Given the description of an element on the screen output the (x, y) to click on. 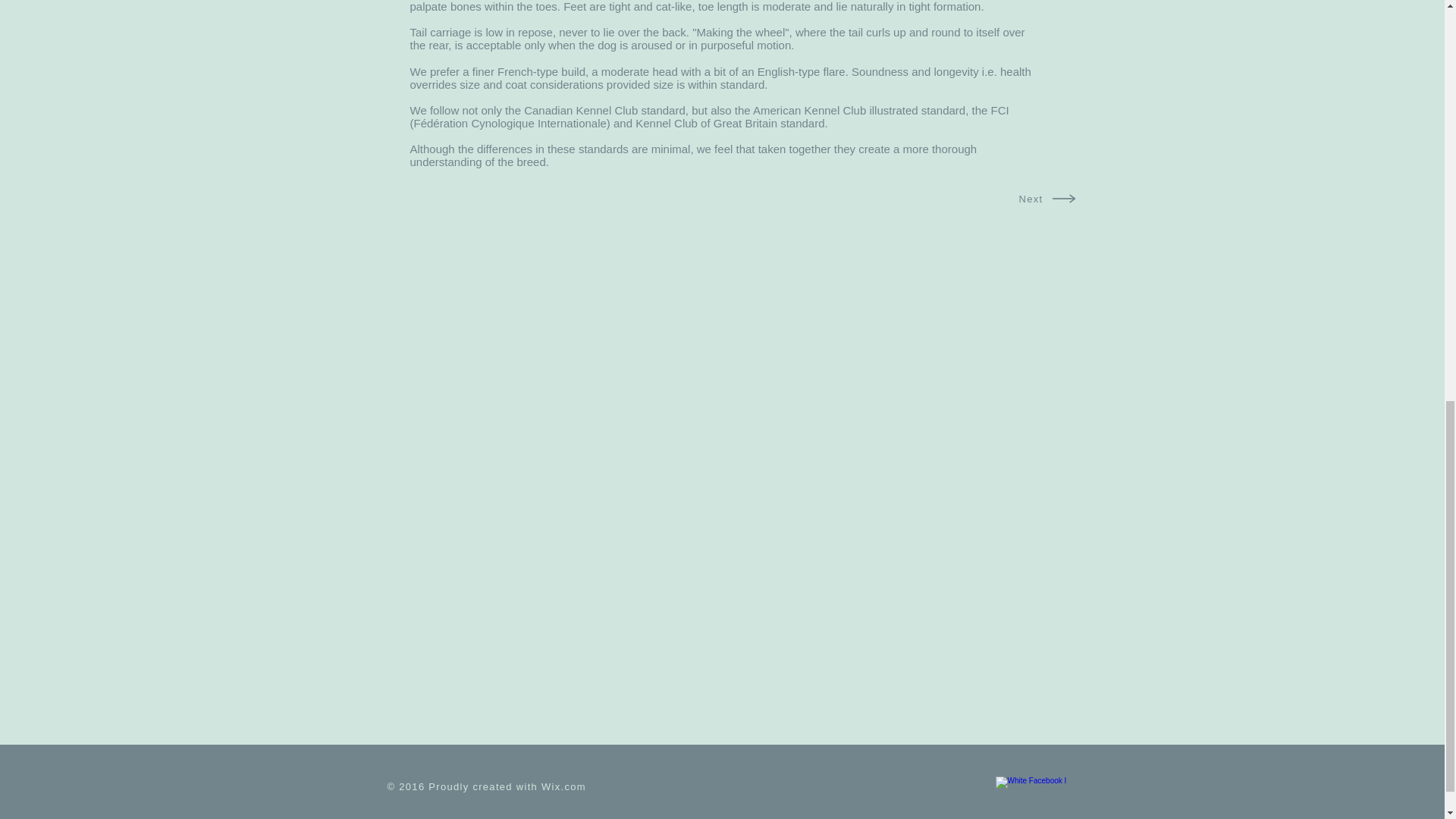
Canadian Kennel Club standard (604, 110)
Kennel Club of Great Britain standard (729, 123)
Next (1031, 198)
Wix.com (563, 786)
